Given the description of an element on the screen output the (x, y) to click on. 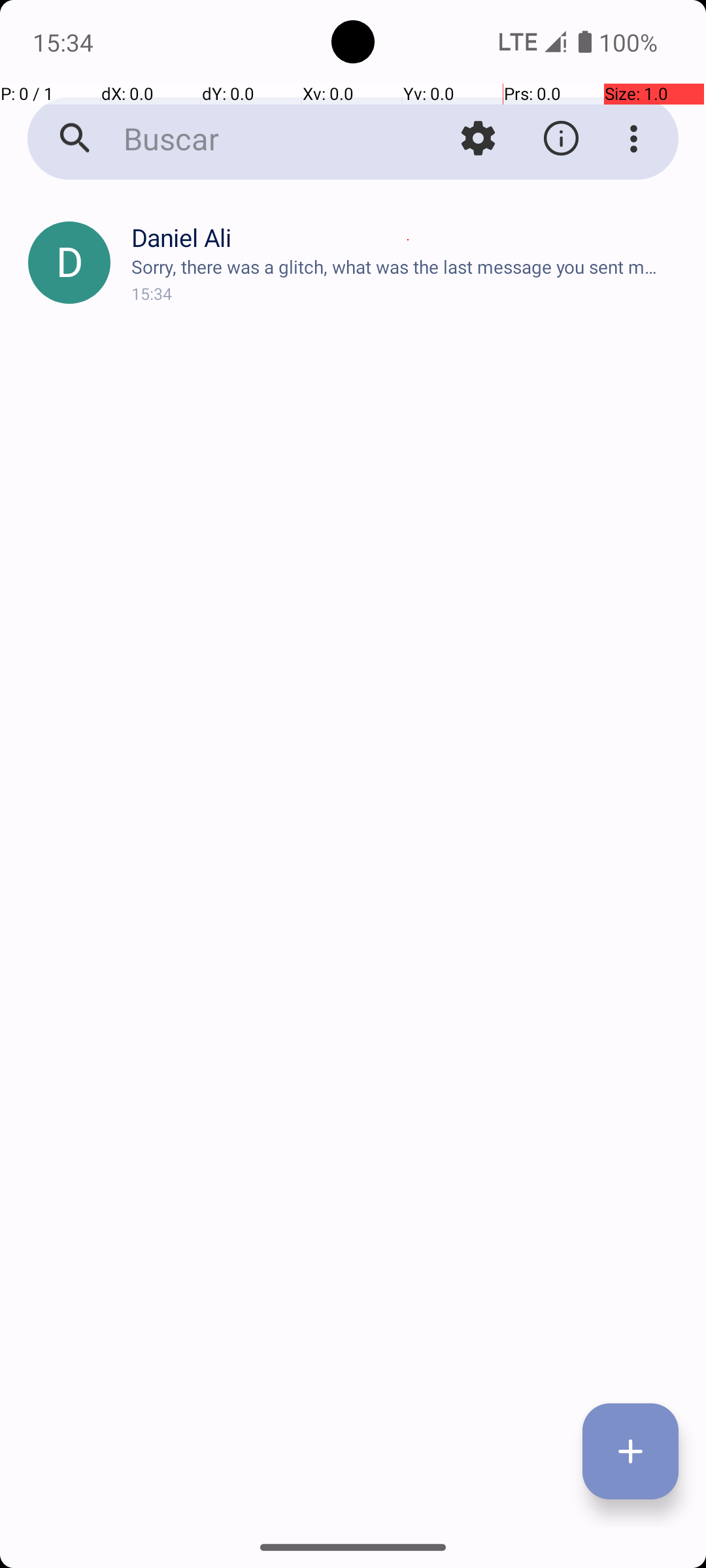
Acerca de Element type: android.widget.Button (560, 138)
Daniel Ali Element type: android.widget.TextView (408, 237)
